Given the description of an element on the screen output the (x, y) to click on. 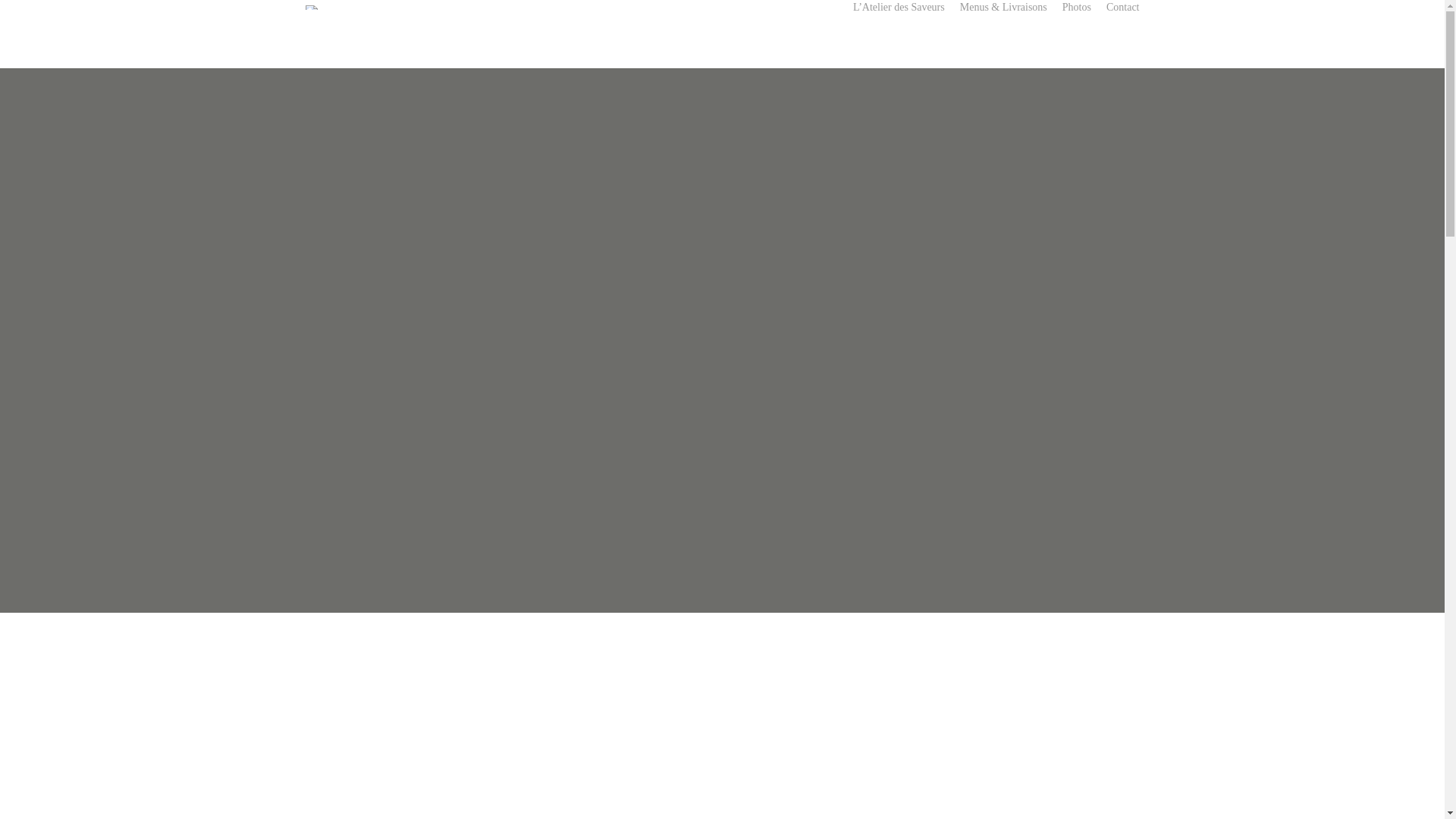
Contact Element type: text (1122, 7)
Photos Element type: text (1076, 7)
Menus & Livraisons Element type: text (1003, 7)
